Given the description of an element on the screen output the (x, y) to click on. 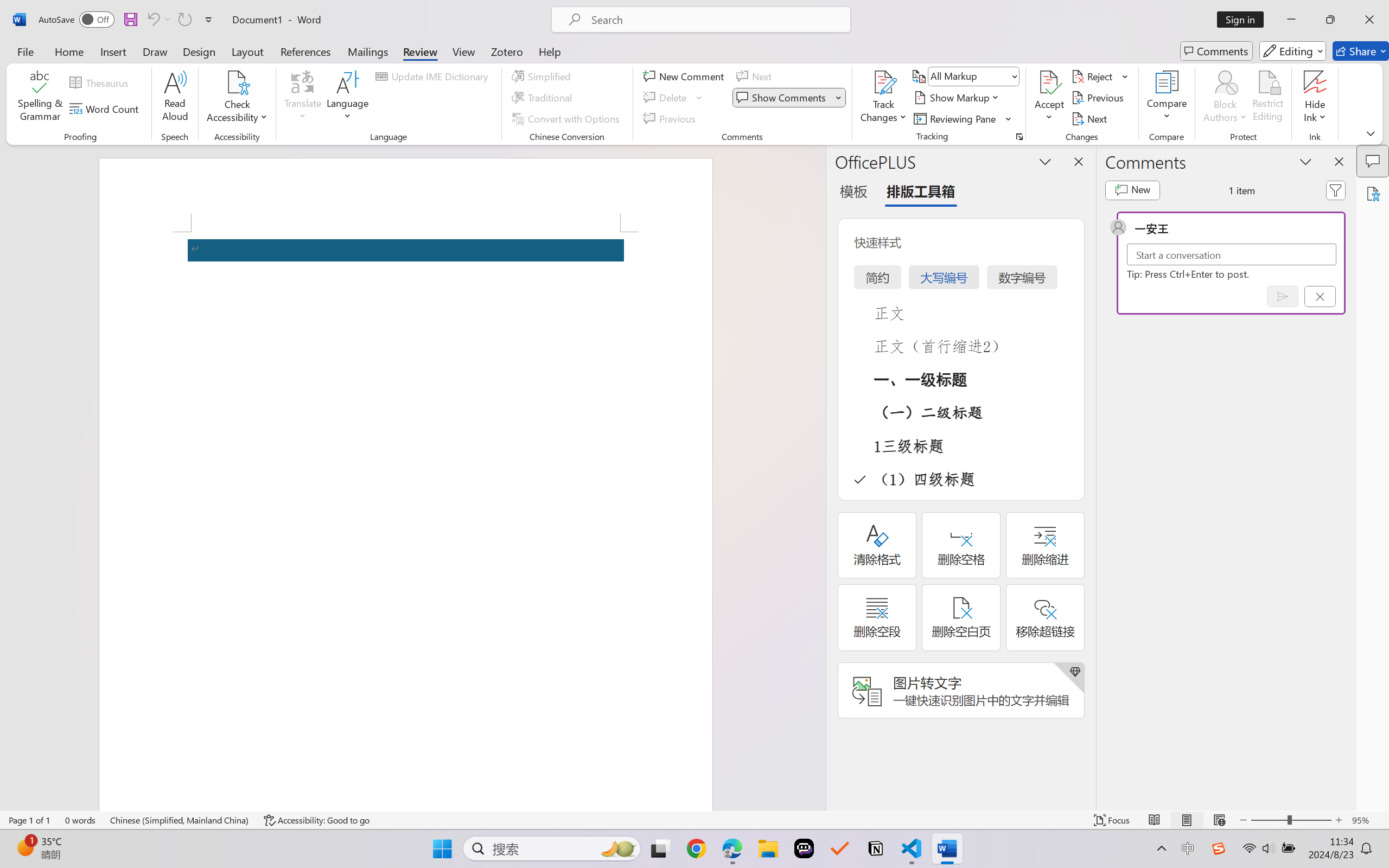
Editing (1292, 50)
Check Accessibility (237, 81)
Traditional (543, 97)
New Comment (685, 75)
Cancel (1320, 296)
Delete (666, 97)
